Given the description of an element on the screen output the (x, y) to click on. 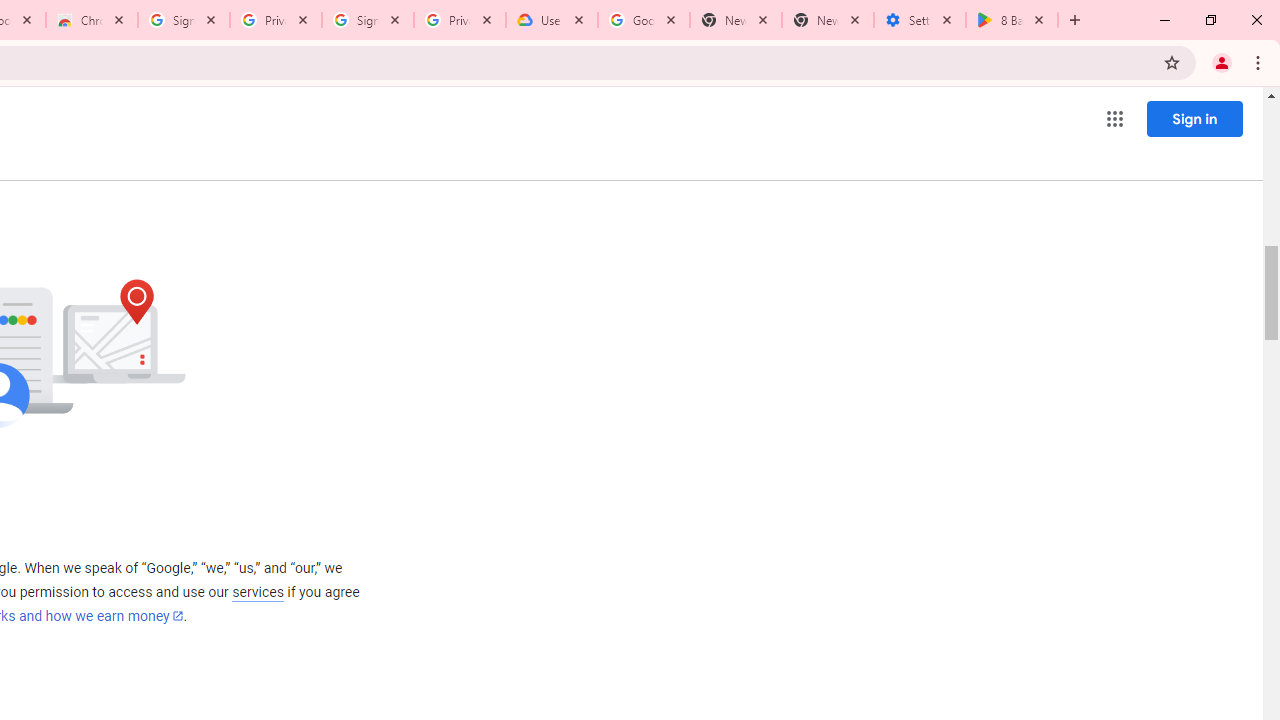
Sign in - Google Accounts (184, 20)
services (257, 592)
New Tab (828, 20)
Sign in - Google Accounts (367, 20)
8 Ball Pool - Apps on Google Play (1012, 20)
